Given the description of an element on the screen output the (x, y) to click on. 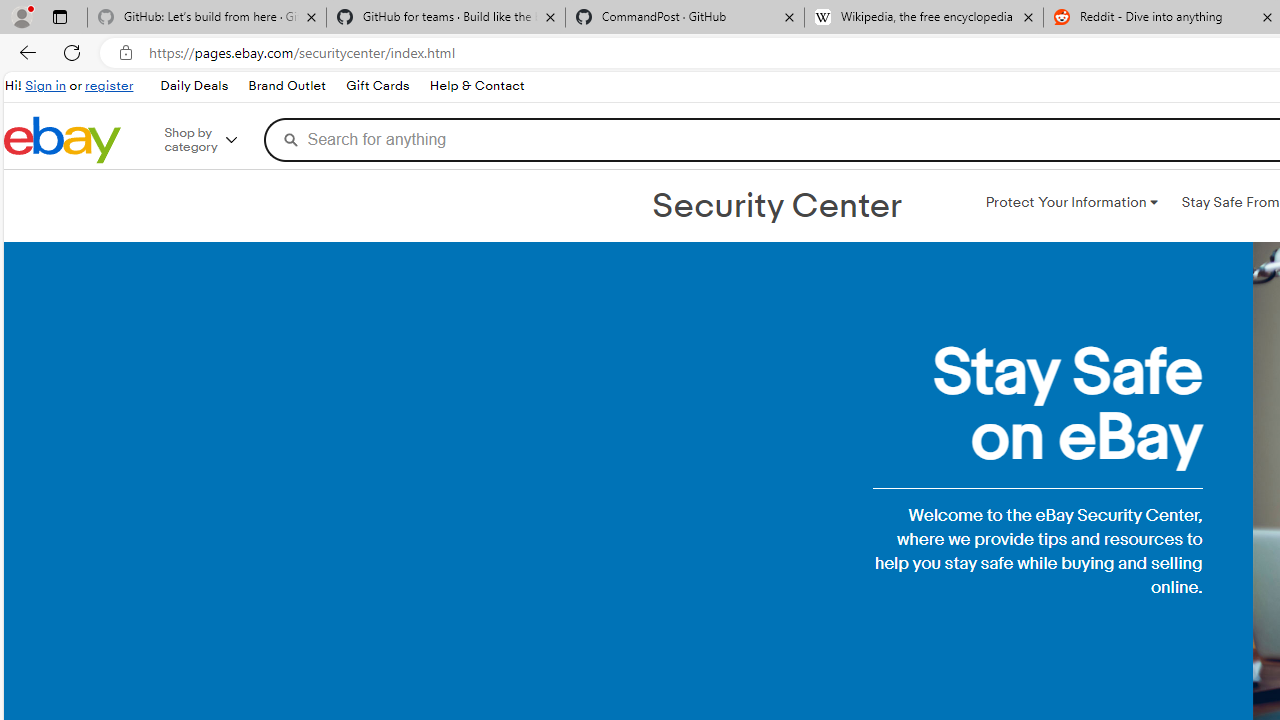
Brand Outlet (287, 86)
eBay Home (62, 139)
Help & Contact (475, 85)
Daily Deals (194, 86)
eBay Home (62, 139)
Gift Cards (377, 86)
Shop by category (213, 140)
Help & Contact (476, 86)
register (109, 85)
Sign in (45, 85)
Security Center (776, 206)
